Given the description of an element on the screen output the (x, y) to click on. 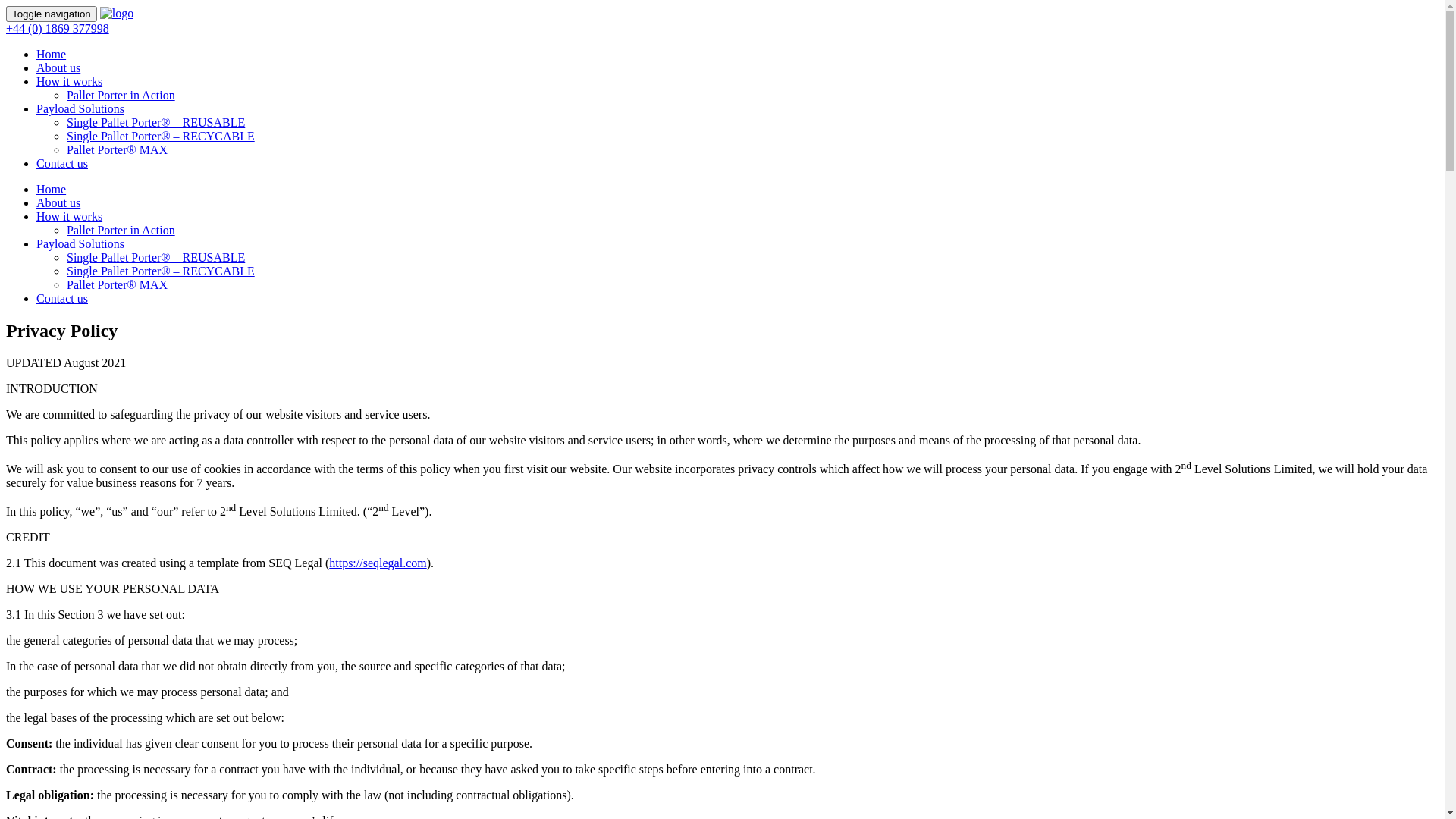
Payload Solutions Element type: text (80, 243)
https://seqlegal.com Element type: text (377, 562)
Home Element type: text (50, 53)
How it works Element type: text (69, 81)
Pallet Porter in Action Element type: text (120, 94)
Payload Solutions Element type: text (80, 108)
Pallet Porter in Action Element type: text (120, 229)
About us Element type: text (58, 67)
Toggle navigation Element type: text (51, 13)
+44 (0) 1869 377998 Element type: text (57, 27)
How it works Element type: text (69, 216)
Home Element type: text (50, 188)
Contact us Element type: text (61, 297)
Contact us Element type: text (61, 162)
About us Element type: text (58, 202)
